Given the description of an element on the screen output the (x, y) to click on. 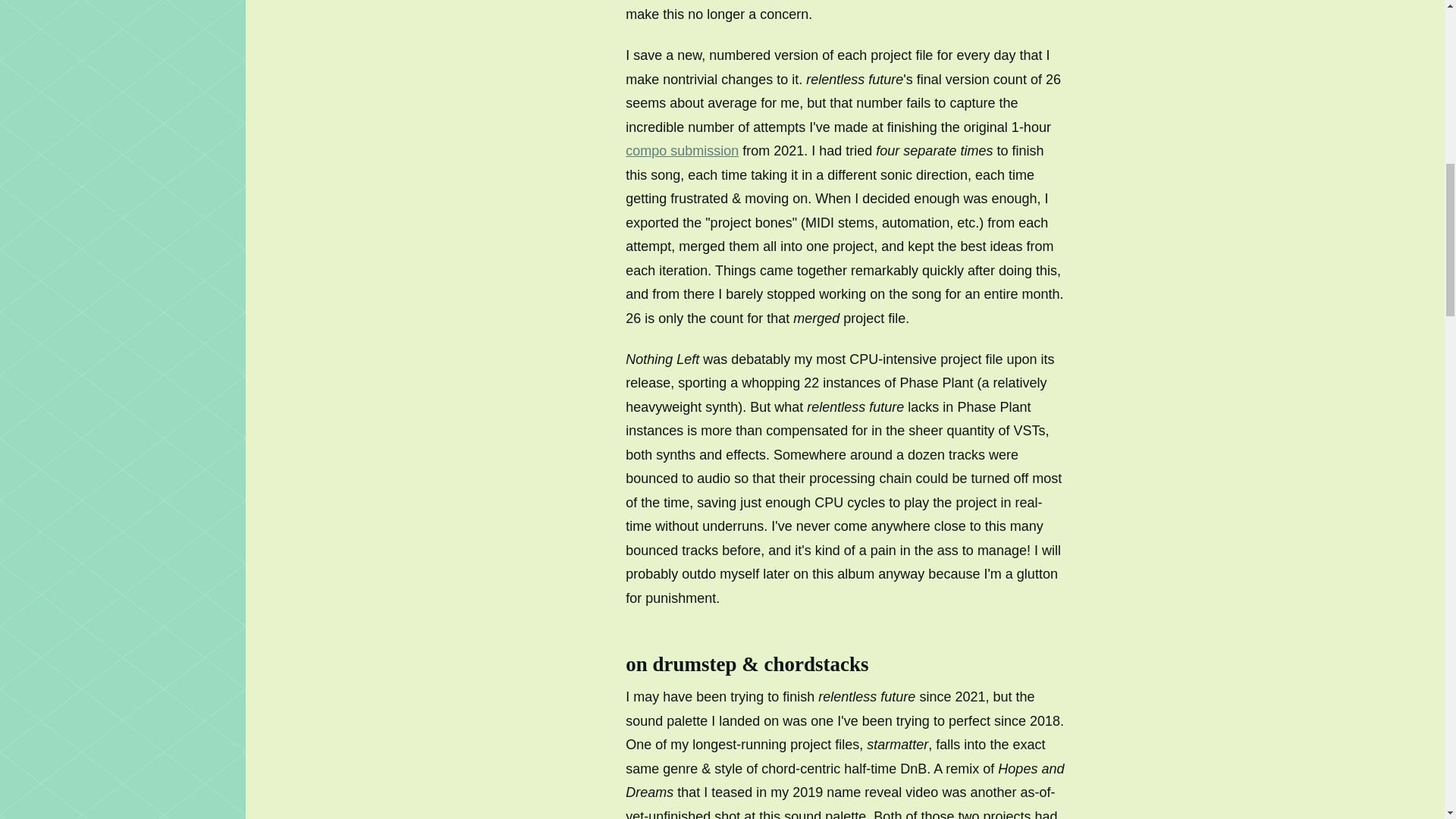
compo submission (682, 150)
